Given the description of an element on the screen output the (x, y) to click on. 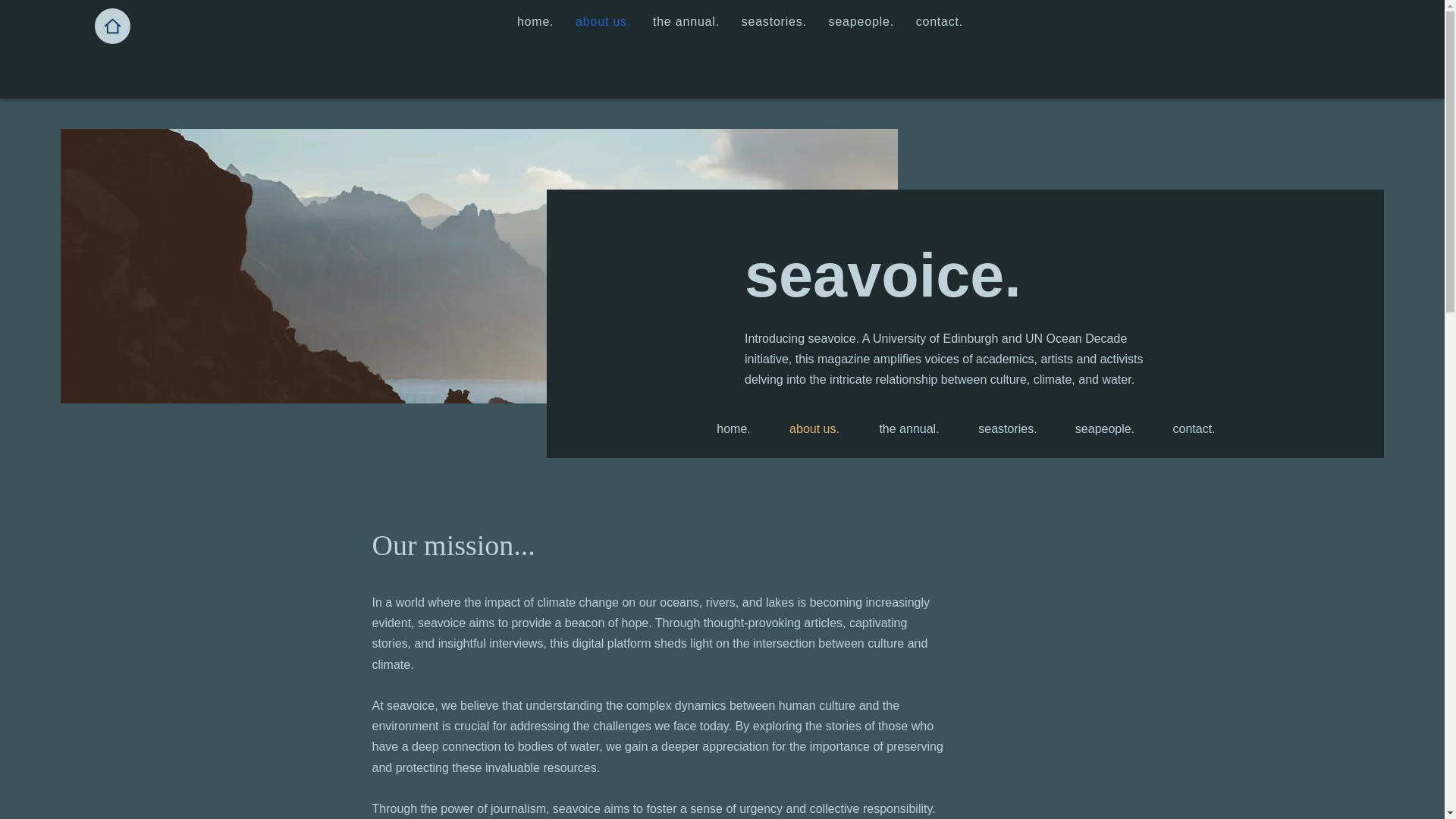
home. (733, 428)
seastories. (773, 21)
the annual. (909, 428)
the annual. (686, 21)
home. (535, 21)
about us. (814, 428)
about us. (603, 21)
contact. (939, 21)
seastories. (1008, 428)
contact. (1193, 428)
